Given the description of an element on the screen output the (x, y) to click on. 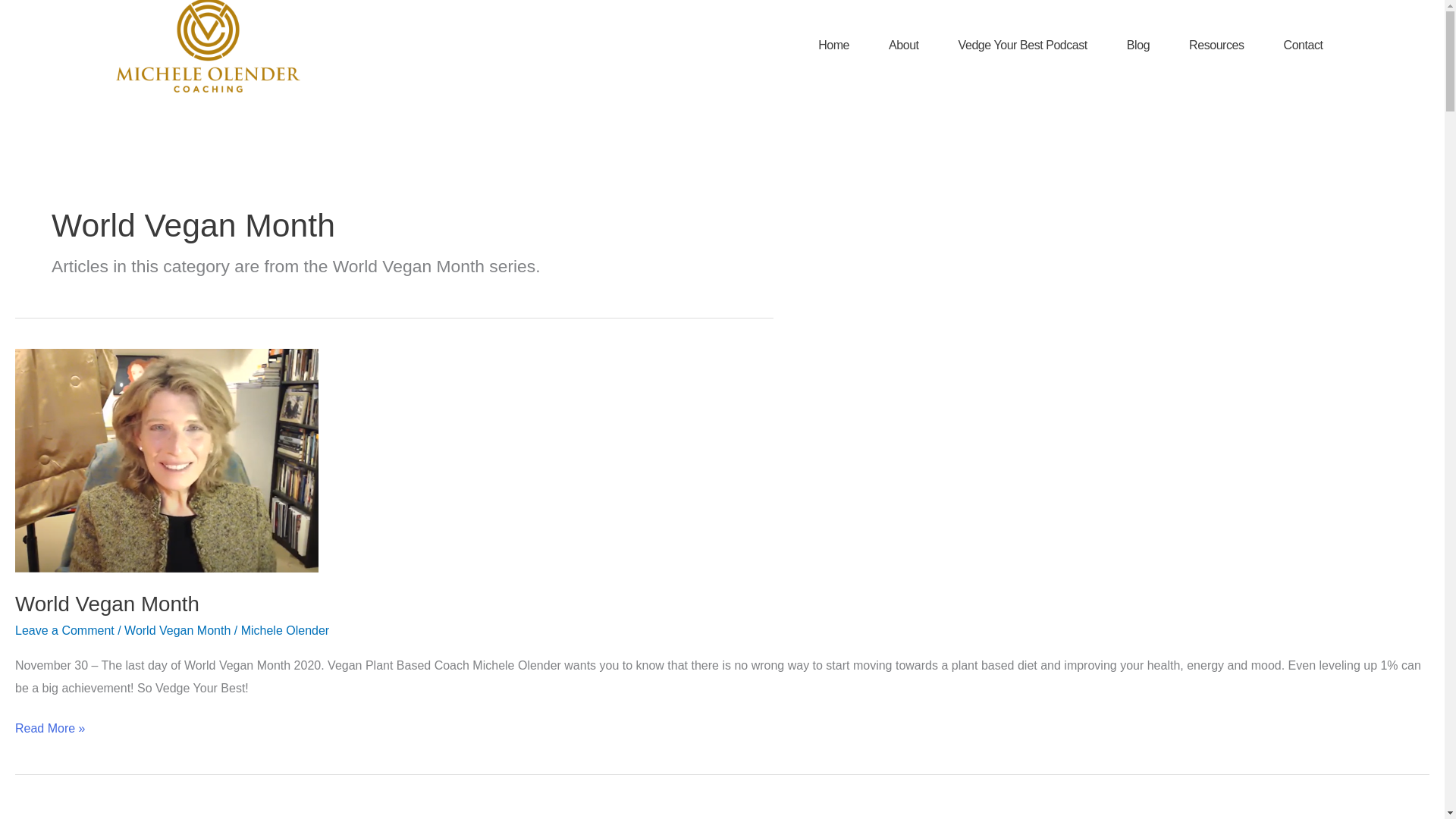
About (903, 45)
Home (833, 45)
Blog (1138, 45)
Michele Olender (285, 630)
Vedge Your Best Podcast (1022, 45)
View all posts by Michele Olender (285, 630)
World Vegan Month (106, 603)
Contact (1303, 45)
Resources (1216, 45)
Leave a Comment (64, 630)
